Given the description of an element on the screen output the (x, y) to click on. 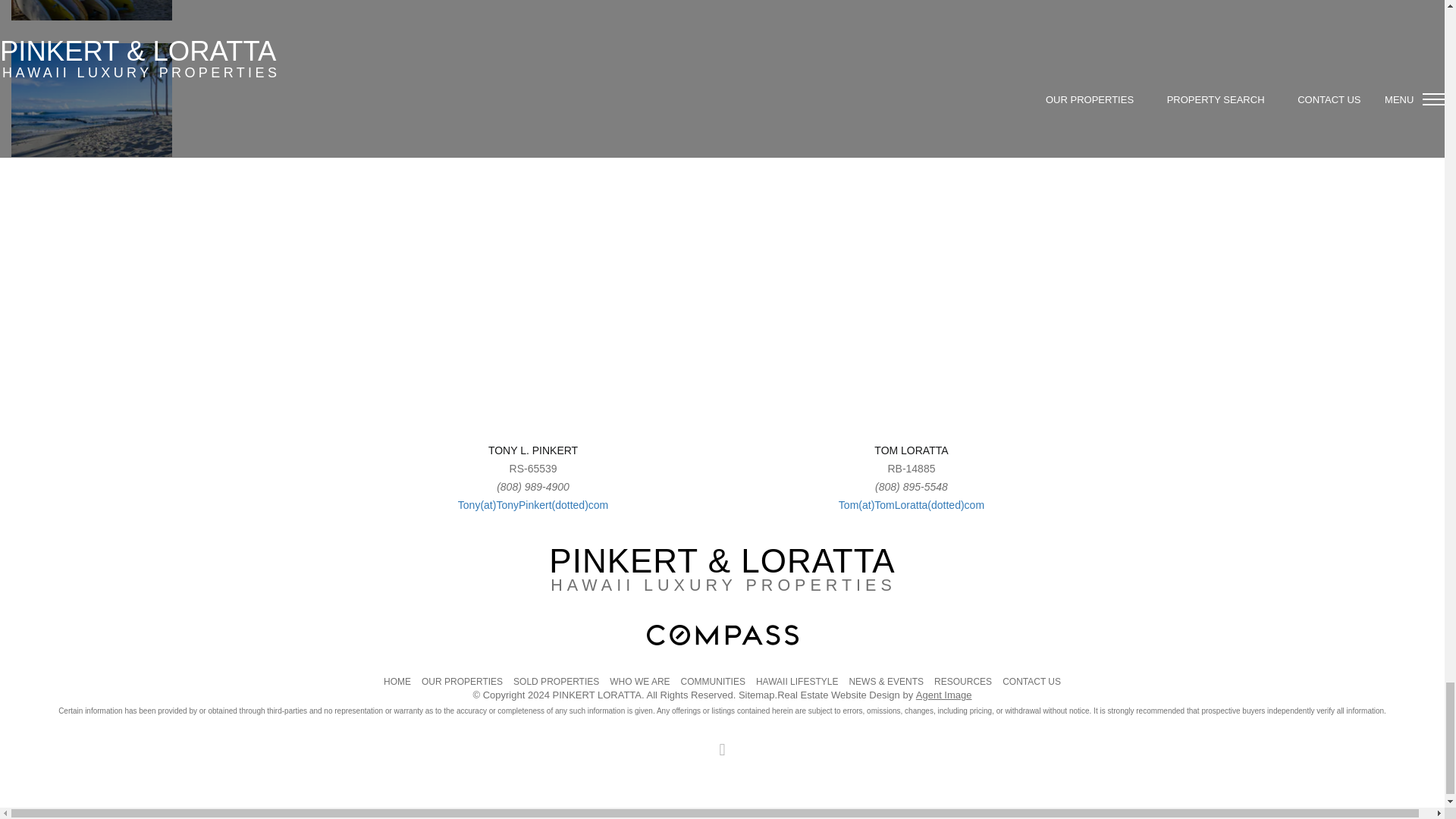
lifestyle link (721, 10)
